Given the description of an element on the screen output the (x, y) to click on. 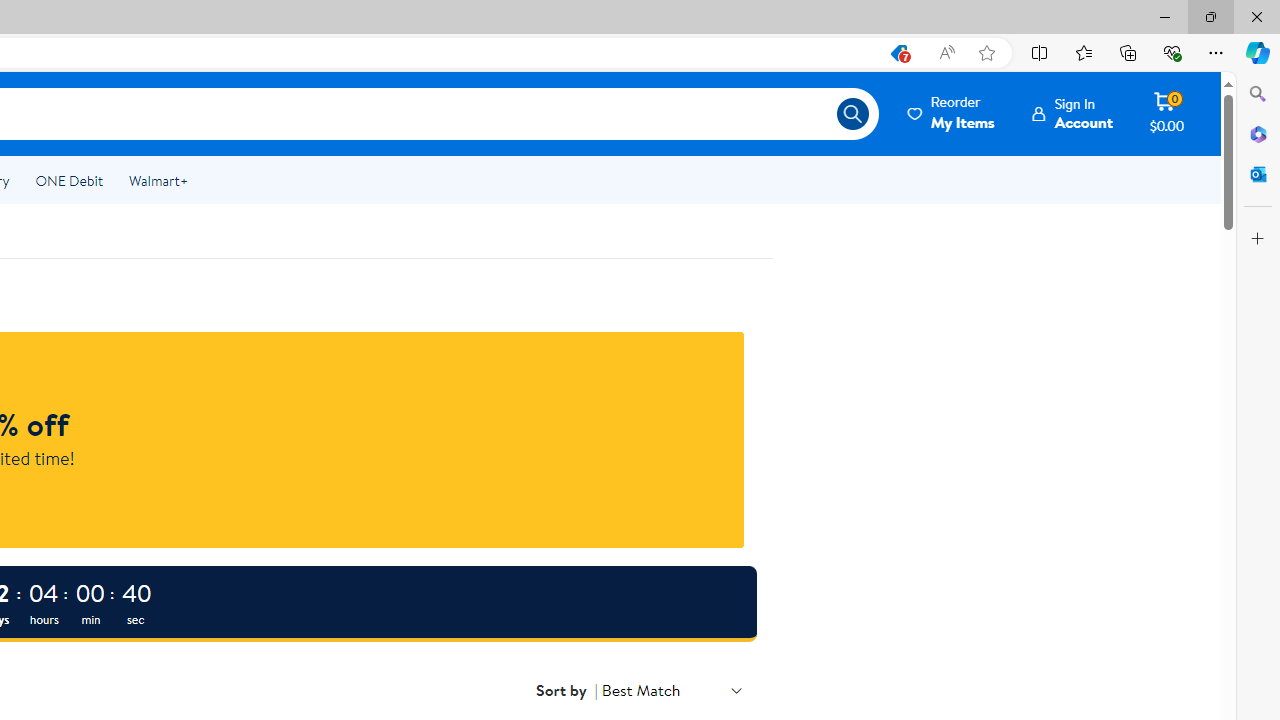
ReorderMy Items (952, 113)
Cart contains 0 items Total Amount $0.00 (1166, 113)
Reorder My Items (952, 113)
Sort by Best Match (672, 690)
Class: ld ld-ChevronDown pa0 ml6 (736, 690)
This site has coupons! Shopping in Microsoft Edge, 7 (898, 53)
